Given the description of an element on the screen output the (x, y) to click on. 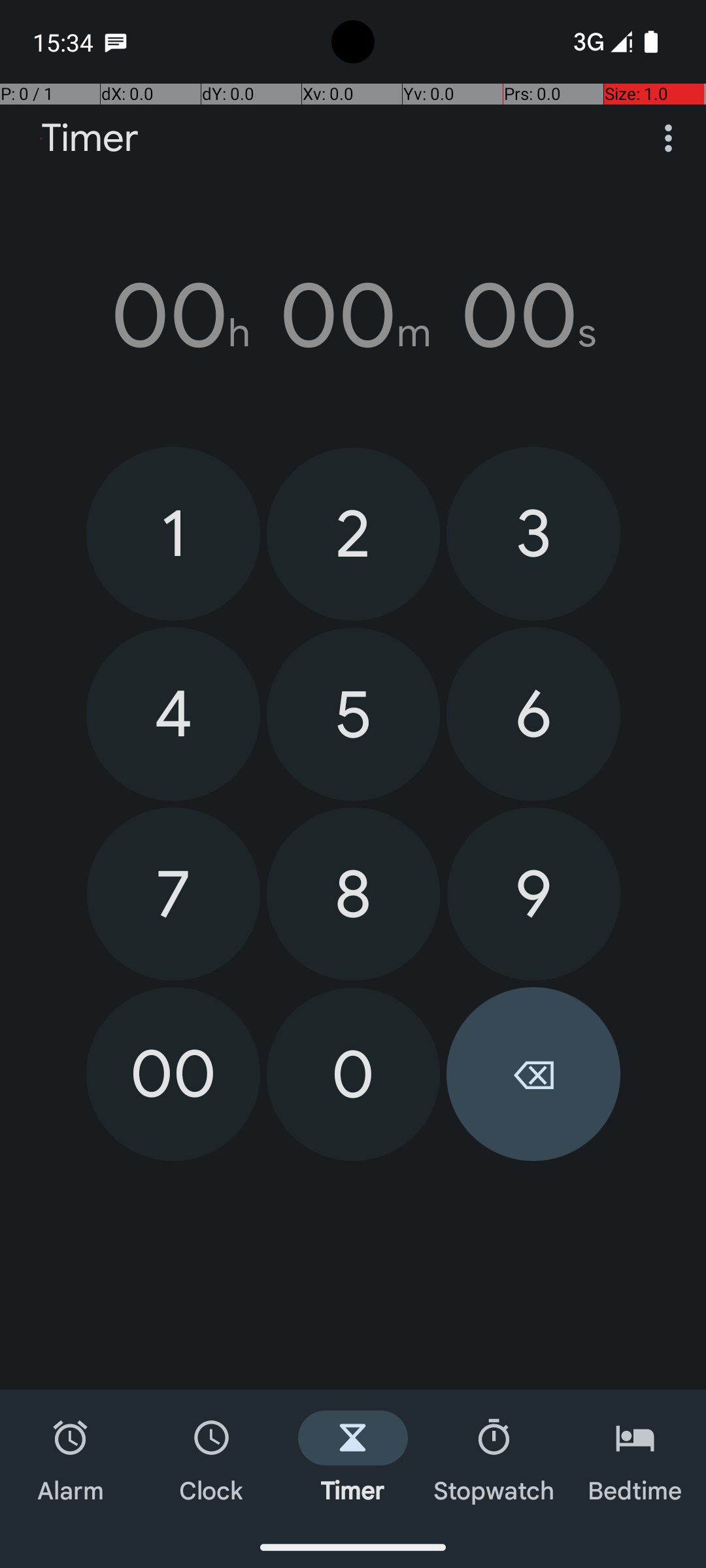
Timer Element type: android.widget.TextView (89, 138)
00h 00m 00s Element type: android.widget.TextView (353, 315)
1 Element type: android.widget.Button (173, 533)
2 Element type: android.widget.Button (352, 533)
3 Element type: android.widget.Button (533, 533)
4 Element type: android.widget.Button (173, 713)
5 Element type: android.widget.Button (352, 713)
6 Element type: android.widget.Button (533, 713)
7 Element type: android.widget.Button (173, 893)
8 Element type: android.widget.Button (352, 893)
9 Element type: android.widget.Button (533, 893)
00 Element type: android.widget.Button (173, 1073)
0 Element type: android.widget.Button (352, 1073)
⌫ Element type: android.widget.Button (533, 1073)
Alarm Element type: android.widget.FrameLayout (70, 1457)
Clock Element type: android.widget.FrameLayout (211, 1457)
Stopwatch Element type: android.widget.FrameLayout (493, 1457)
Bedtime Element type: android.widget.FrameLayout (635, 1457)
SMS Messenger notification: Petar Gonzalez Element type: android.widget.ImageView (115, 41)
